Given the description of an element on the screen output the (x, y) to click on. 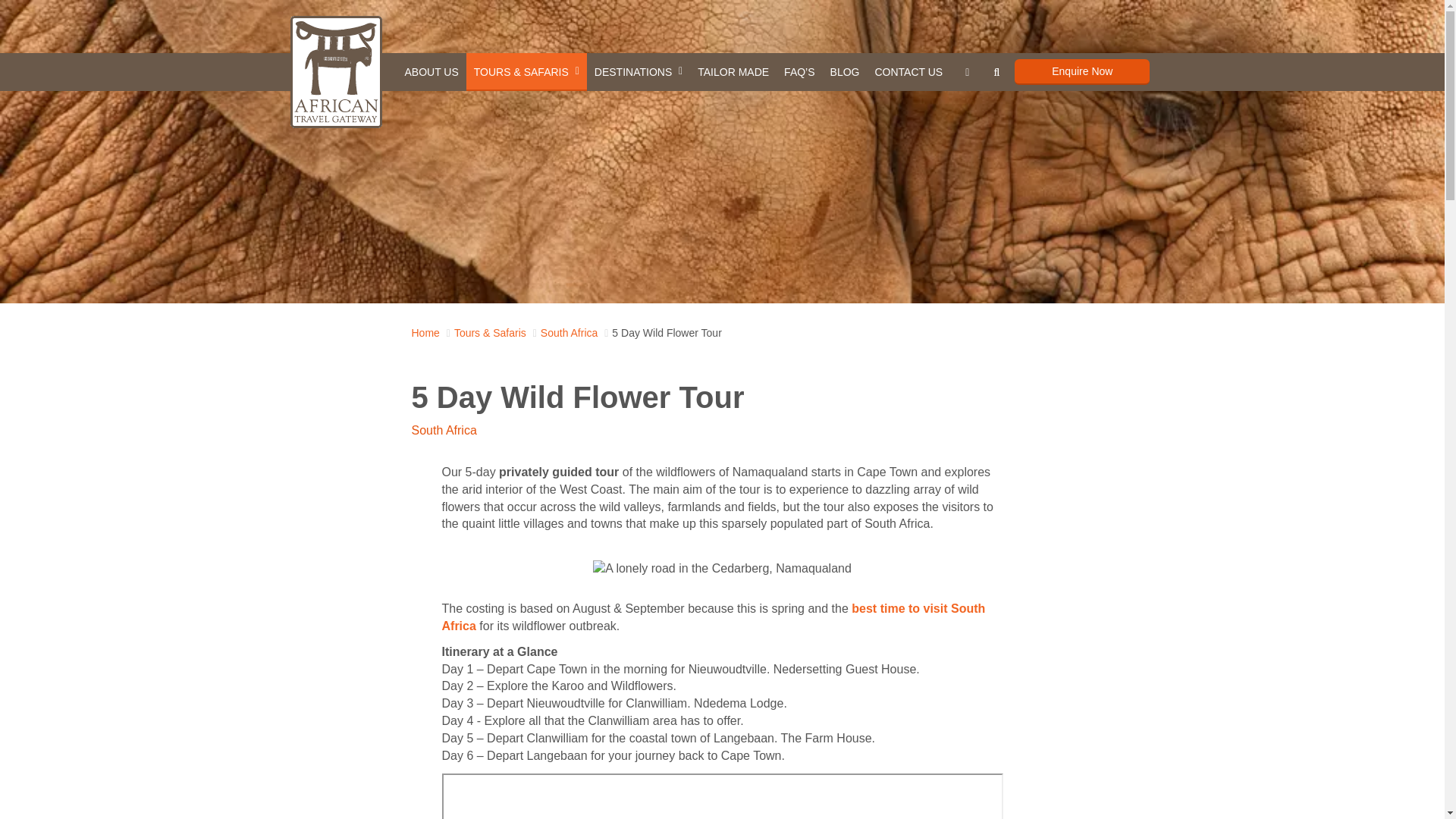
Home (424, 332)
DESTINATIONS (638, 71)
Home (424, 332)
South Africa (569, 332)
African Travel Gateway (335, 71)
Enquire Now (1082, 71)
best time to visit South Africa (713, 616)
CONTACT US (908, 71)
BLOG (844, 71)
TAILOR MADE (733, 71)
